Given the description of an element on the screen output the (x, y) to click on. 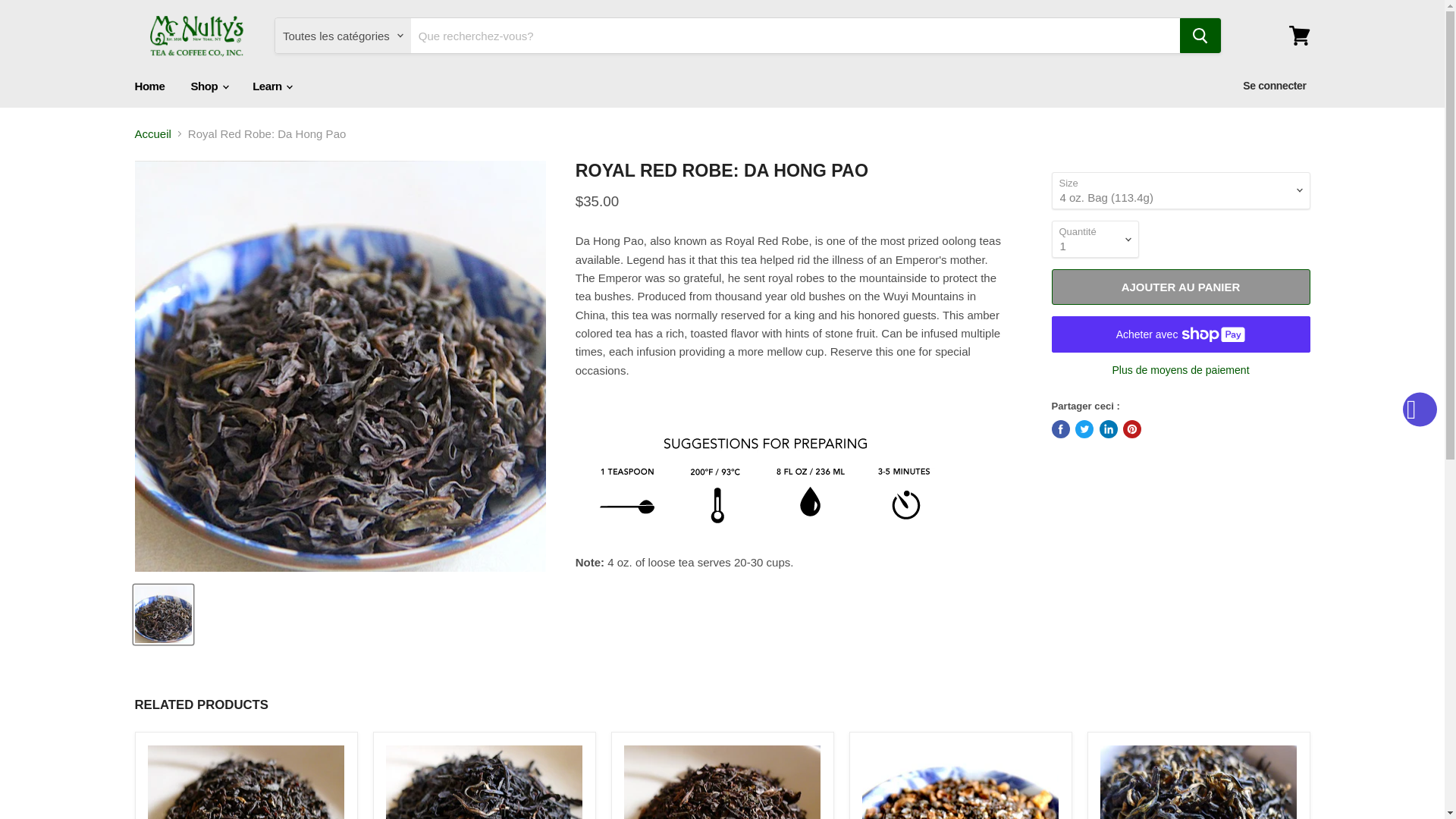
Home (149, 85)
Voir le panier (1299, 35)
Shop (208, 85)
